Given the description of an element on the screen output the (x, y) to click on. 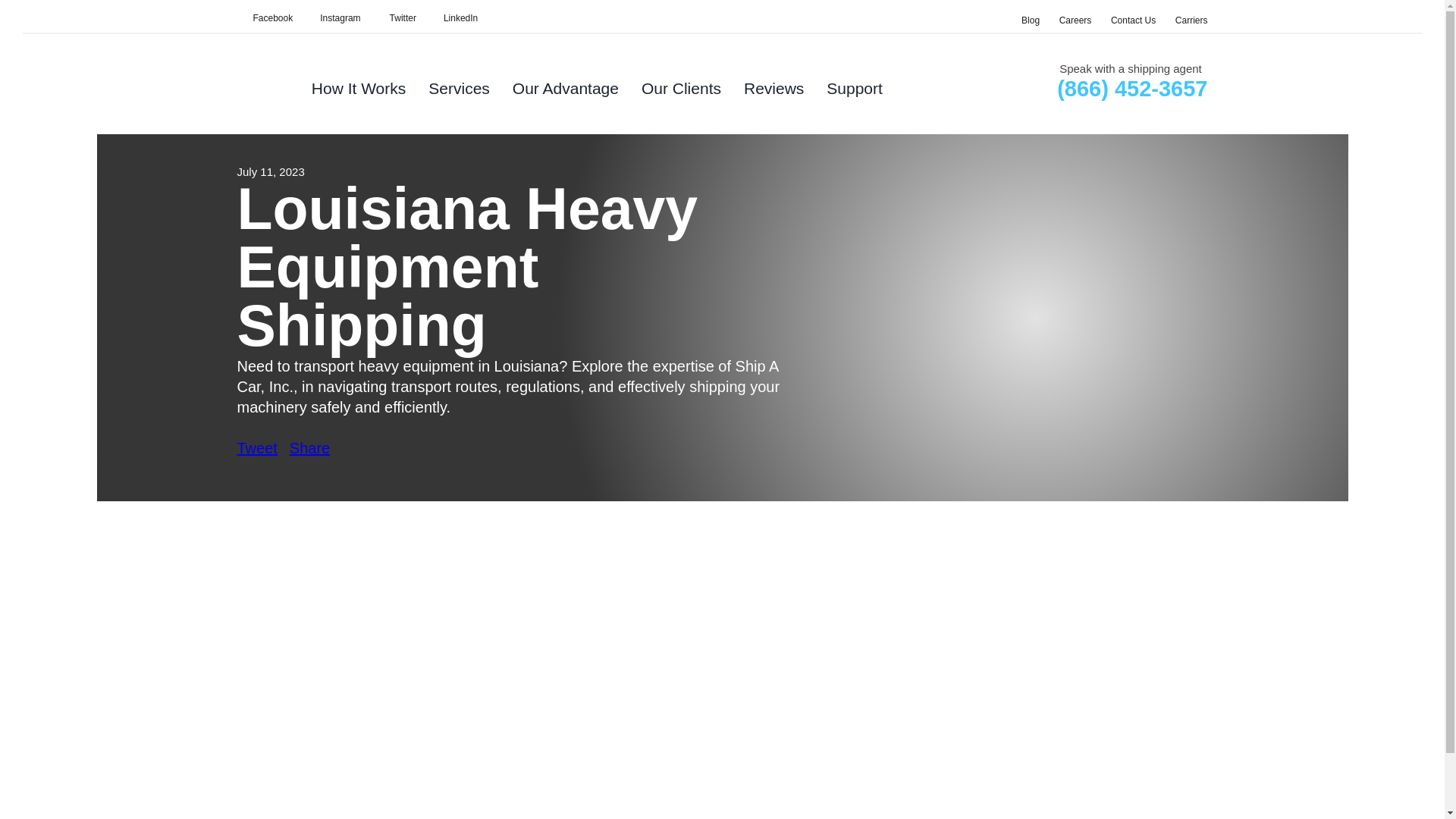
SHIP A CAR, INC. (452, 17)
Careers (1075, 20)
Instagram (331, 17)
Carriers (1191, 20)
Facebook (263, 17)
Blog (1030, 20)
LinkedIn (452, 17)
Blog (1030, 20)
Twitter (394, 17)
Contact Us (1133, 20)
